Given the description of an element on the screen output the (x, y) to click on. 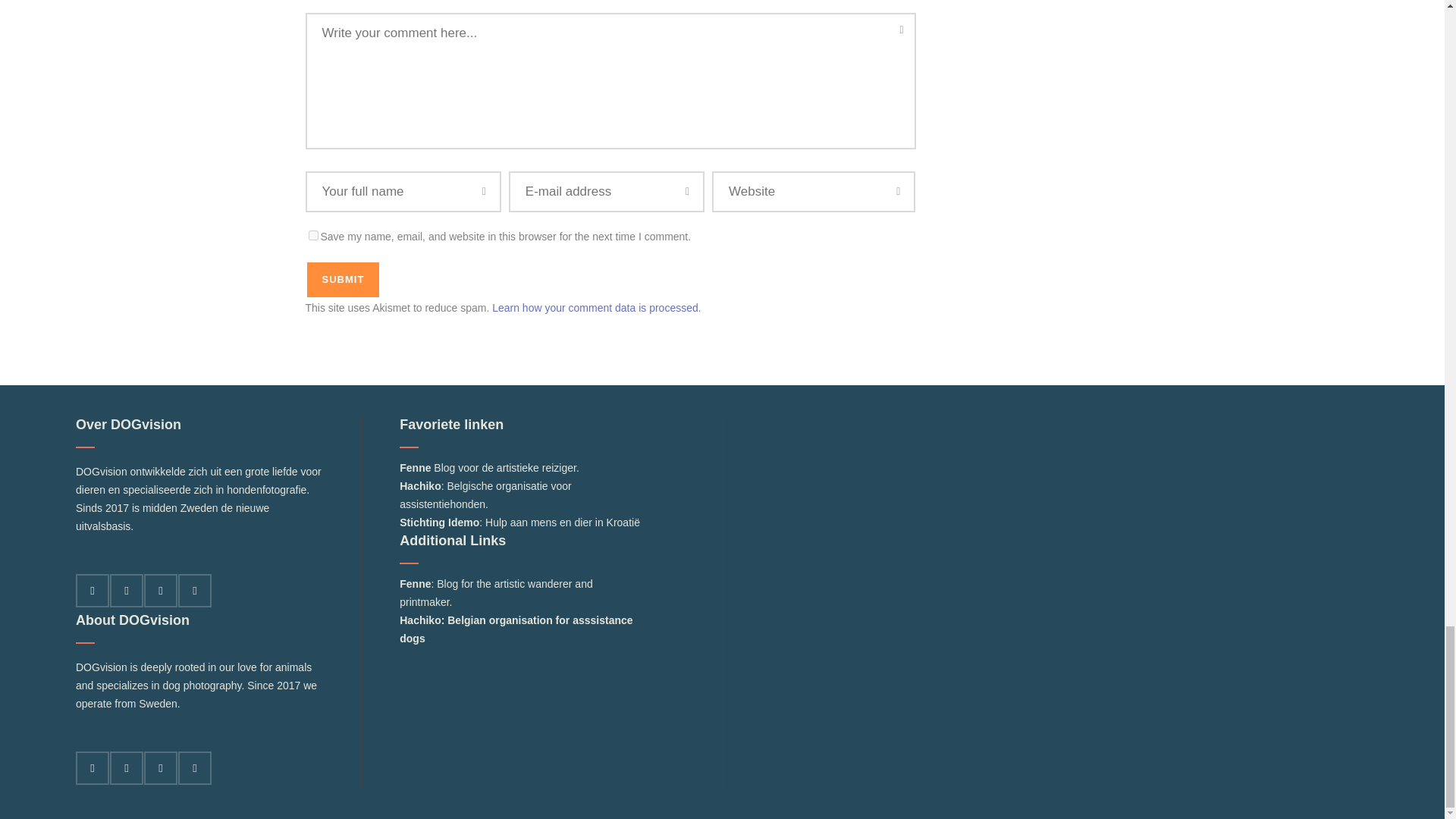
yes (312, 235)
Submit (342, 279)
Learn how your comment data is processed (595, 307)
Submit (342, 279)
